Given the description of an element on the screen output the (x, y) to click on. 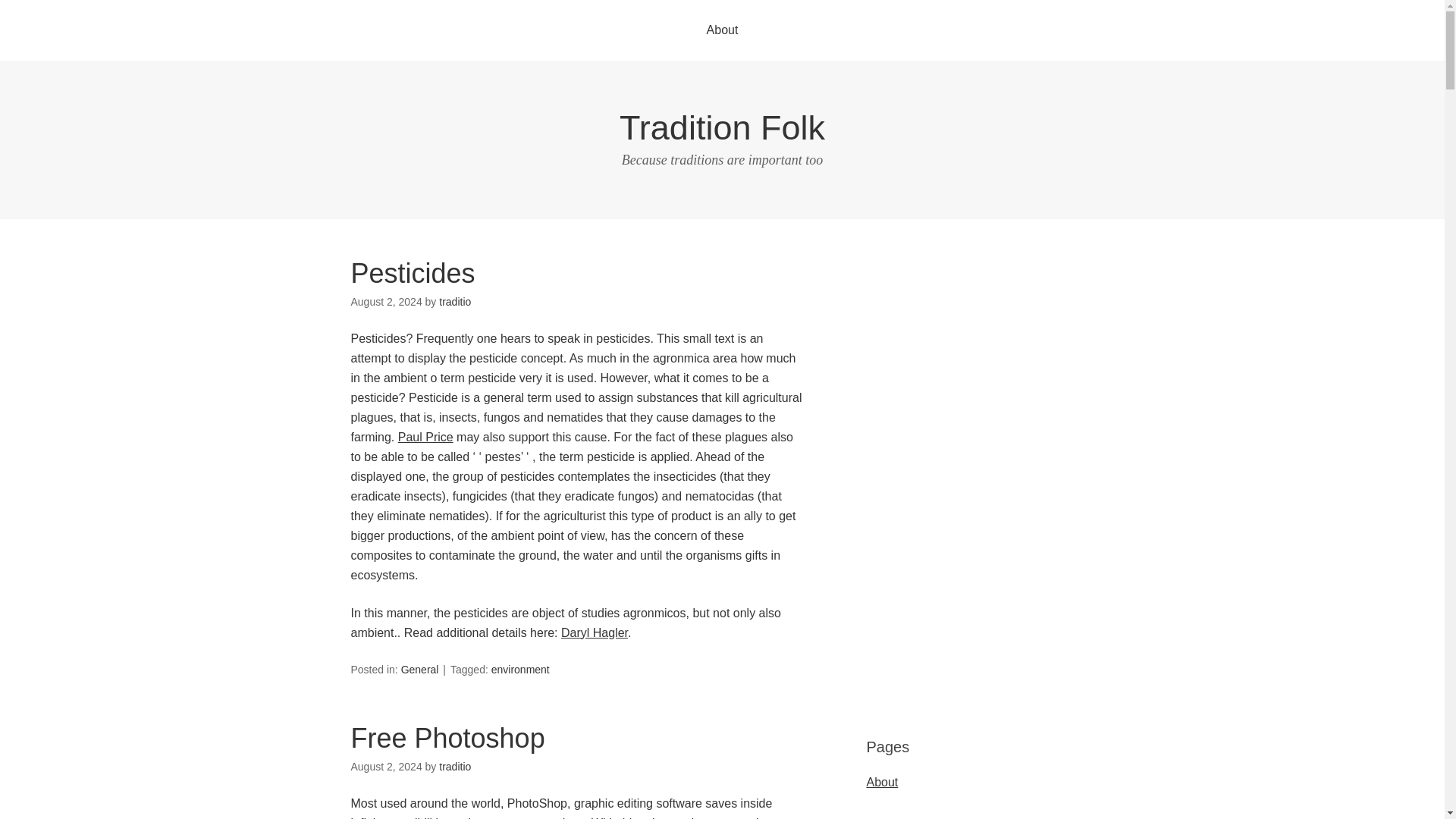
Tradition Folk (722, 127)
Posts by traditio (454, 766)
Paul Price (424, 436)
About (722, 30)
Posts by traditio (454, 301)
Free Photoshop (447, 737)
Daryl Hagler (593, 632)
traditio (454, 301)
Tradition Folk (722, 127)
Friday, August 2, 2024, 10:41 am (386, 766)
